Given the description of an element on the screen output the (x, y) to click on. 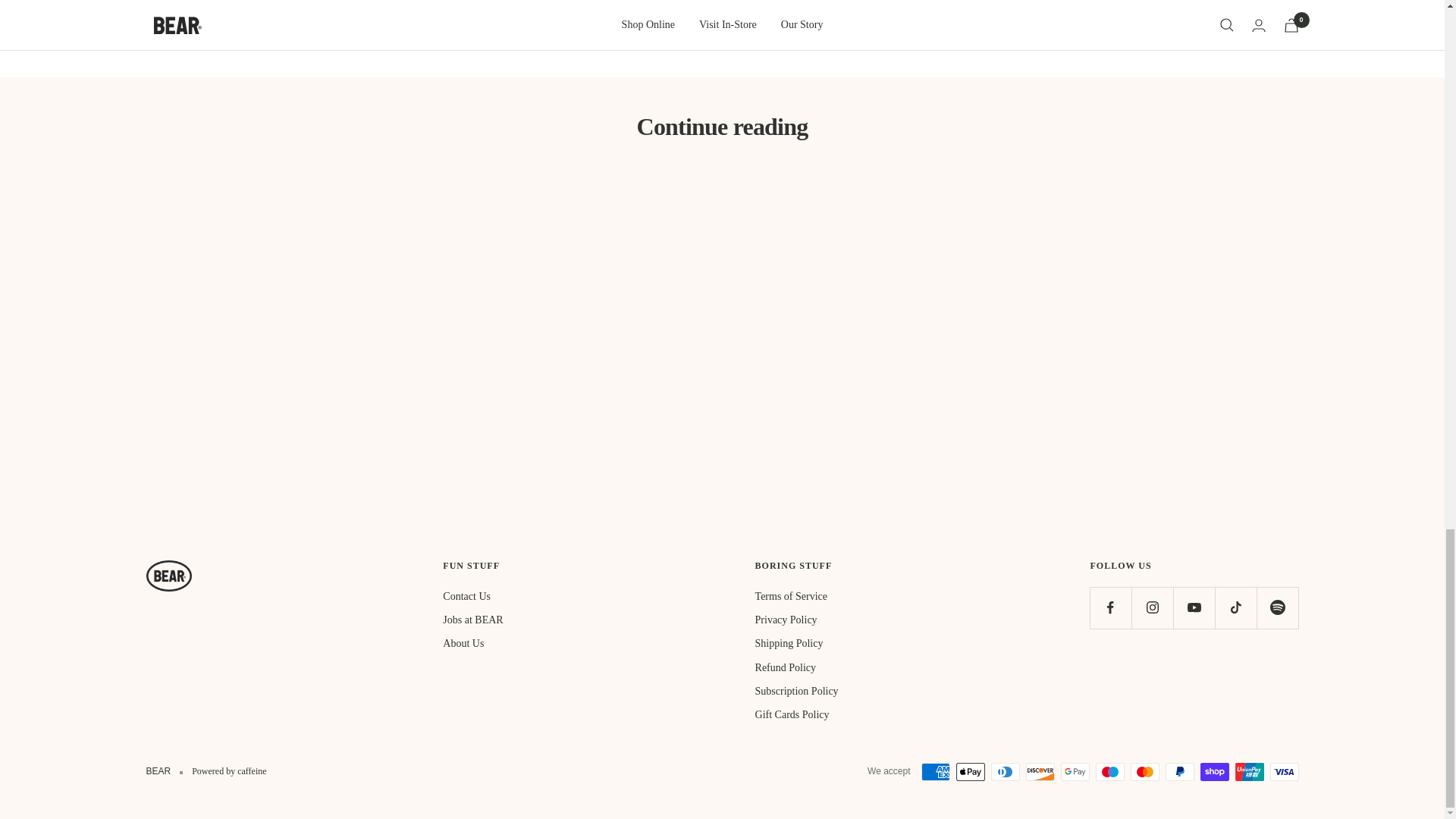
Contact Us (466, 597)
